Given the description of an element on the screen output the (x, y) to click on. 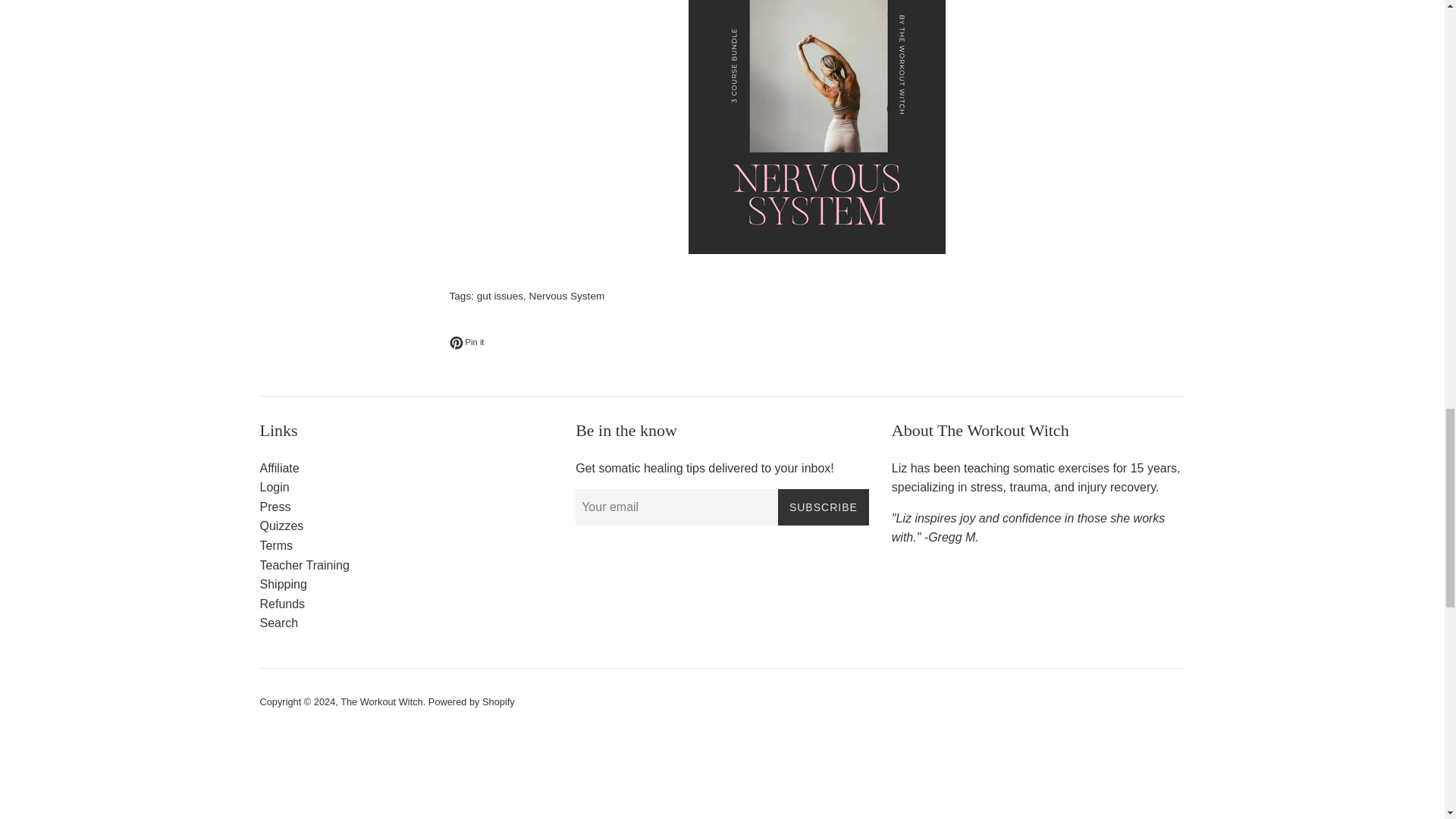
SUBSCRIBE (823, 506)
The Workout Witch (381, 701)
Nervous System (567, 296)
Teacher Training (304, 564)
Press (274, 506)
Quizzes (465, 342)
Powered by Shopify (280, 525)
Search (471, 701)
Login (278, 622)
